Given the description of an element on the screen output the (x, y) to click on. 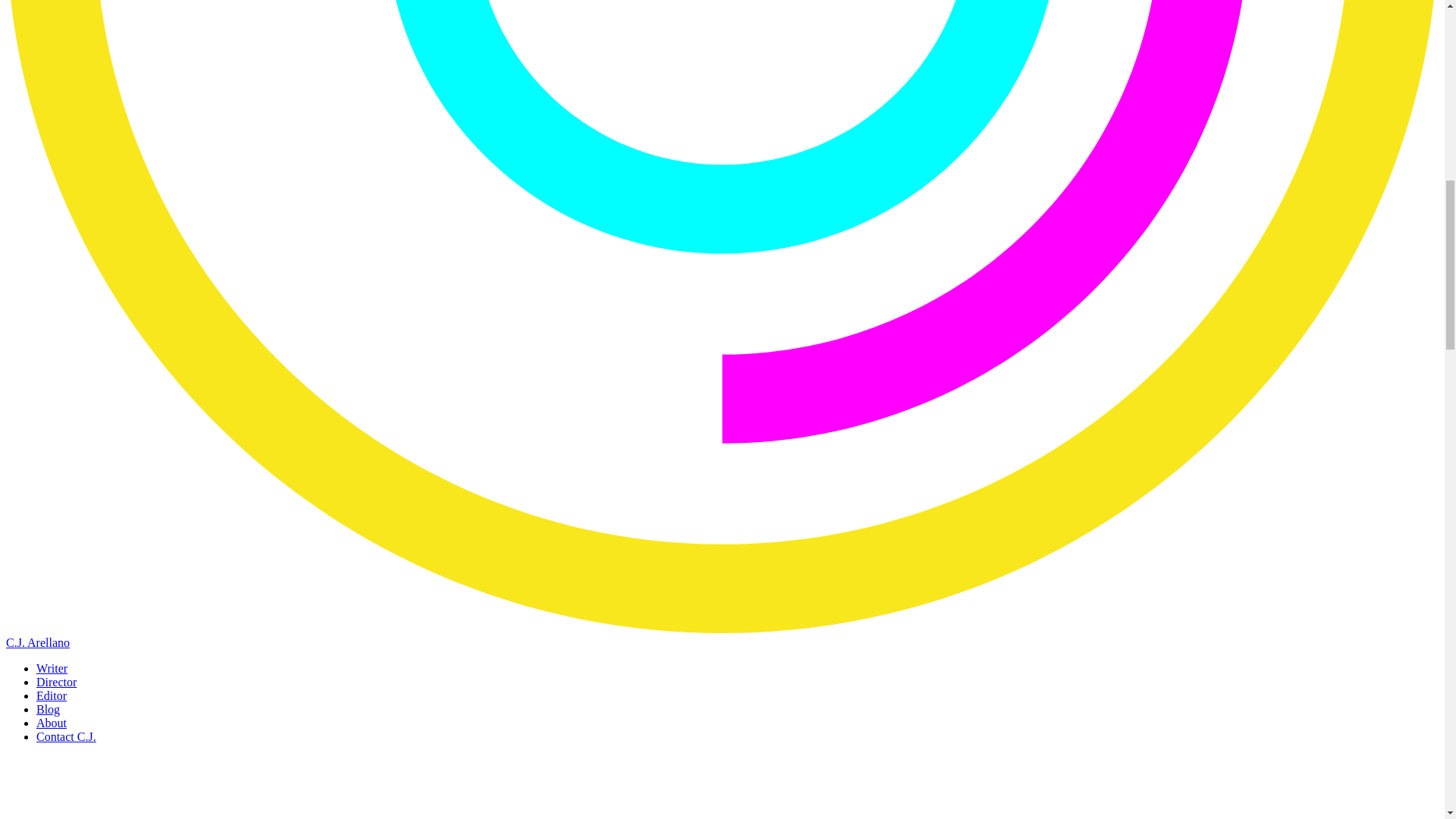
Blog (47, 708)
Director (56, 681)
About (51, 722)
Writer (51, 667)
Editor (51, 695)
